Given the description of an element on the screen output the (x, y) to click on. 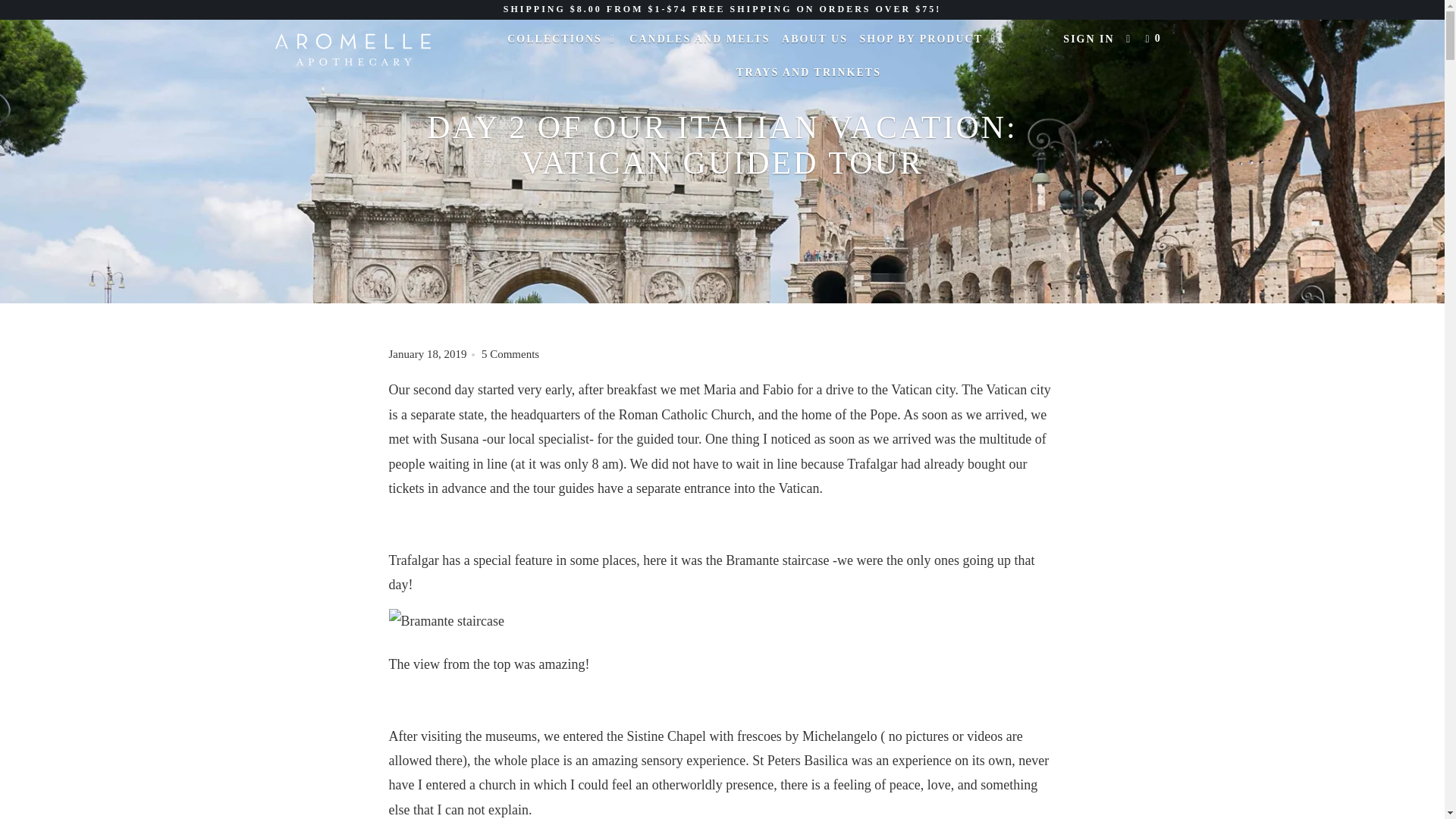
0 (1154, 39)
SHOP BY PRODUCT   (928, 39)
My Account  (1087, 39)
COLLECTIONS   (562, 39)
CANDLES AND MELTS (699, 39)
Aromelle Apothecary (352, 53)
SIGN IN (1087, 39)
ABOUT US (814, 39)
